Given the description of an element on the screen output the (x, y) to click on. 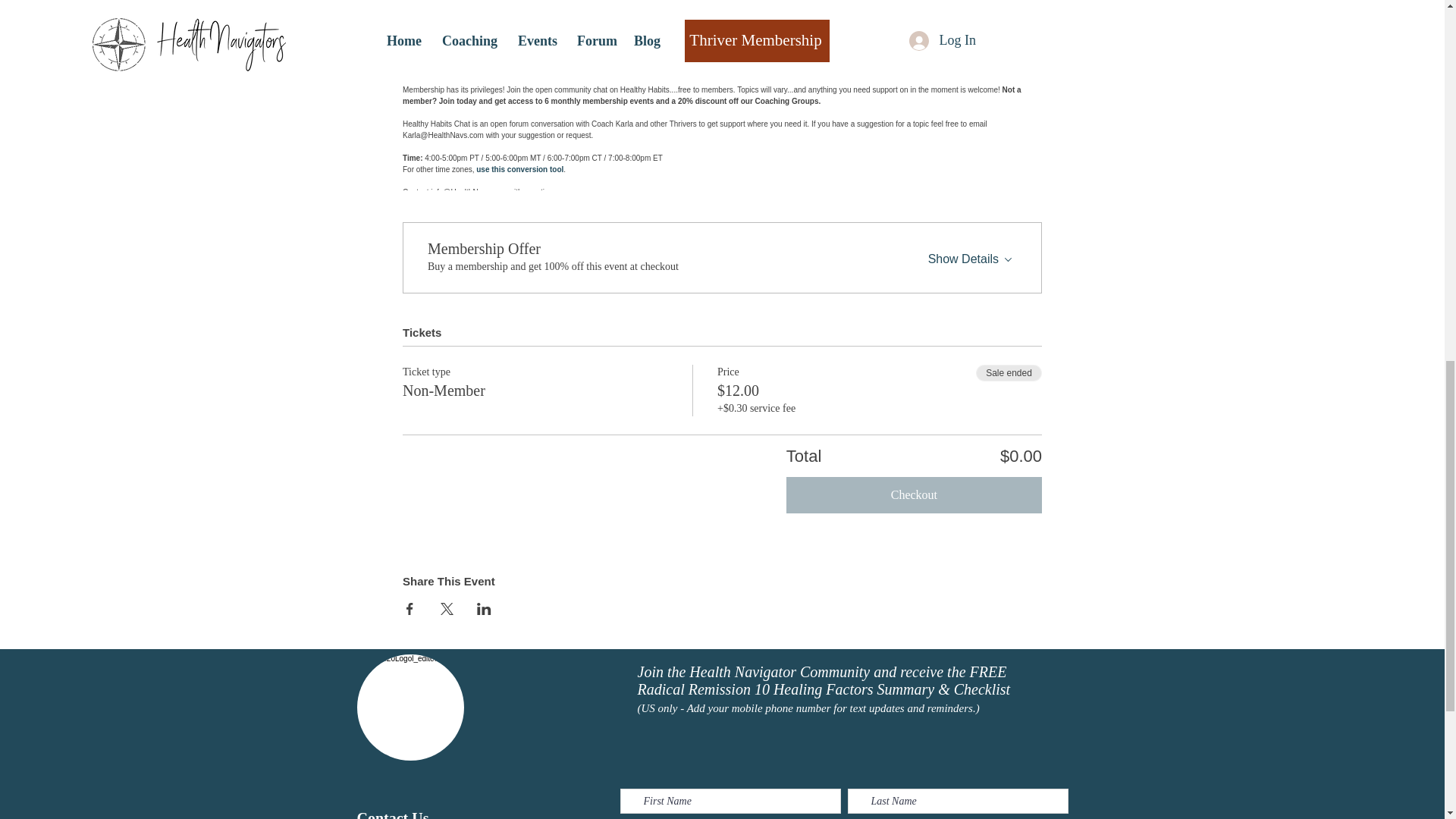
use this conversion tool (519, 169)
Show Details (972, 255)
Checkout (914, 494)
